Given the description of an element on the screen output the (x, y) to click on. 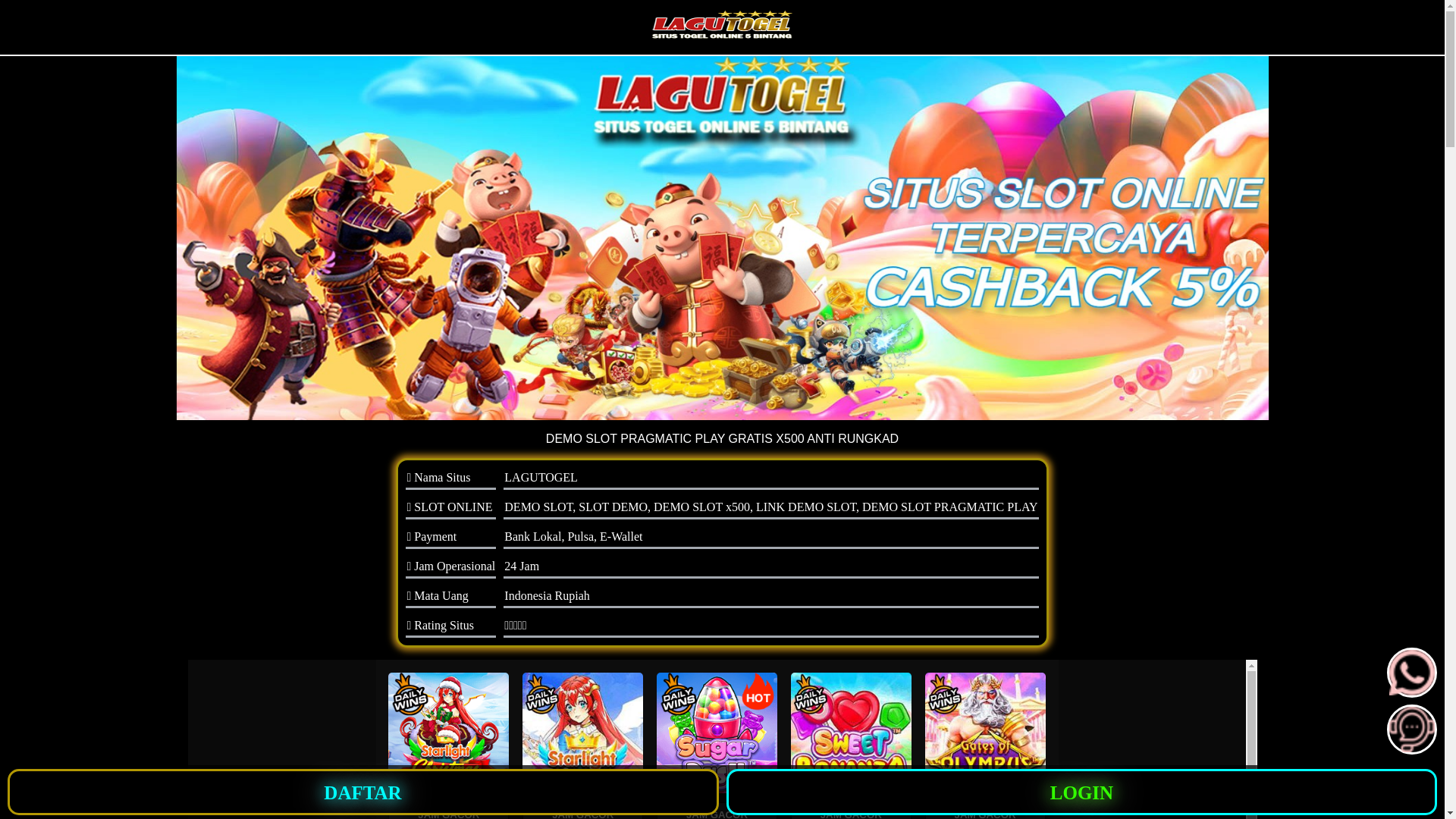
slotonline Element type: hover (721, 238)
Logo slotonline Element type: hover (721, 25)
DAFTAR Element type: text (362, 791)
Livechat slotonline Element type: hover (1411, 747)
LOGIN Element type: text (1081, 791)
Whatsapp slotonline Element type: hover (1411, 690)
